Given the description of an element on the screen output the (x, y) to click on. 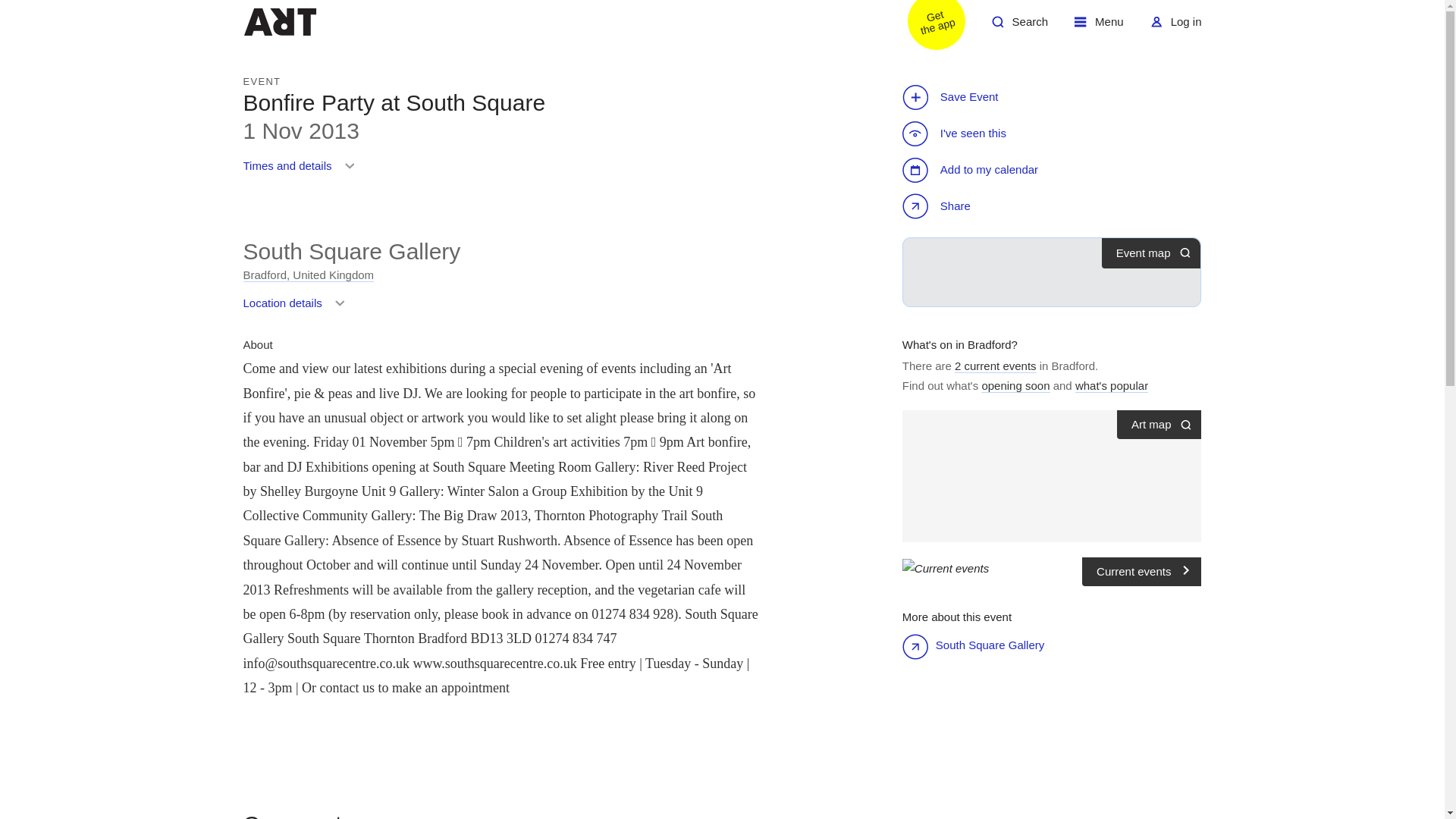
2 current events (1099, 26)
Bradford, United Kingdom (995, 366)
Current events (308, 274)
what's popular (1052, 567)
opening soon (1111, 386)
What's on in Bradford? (1015, 386)
Share (959, 344)
Add to my calendar (1019, 26)
Welcome to ArtRabbit (938, 207)
